Given the description of an element on the screen output the (x, y) to click on. 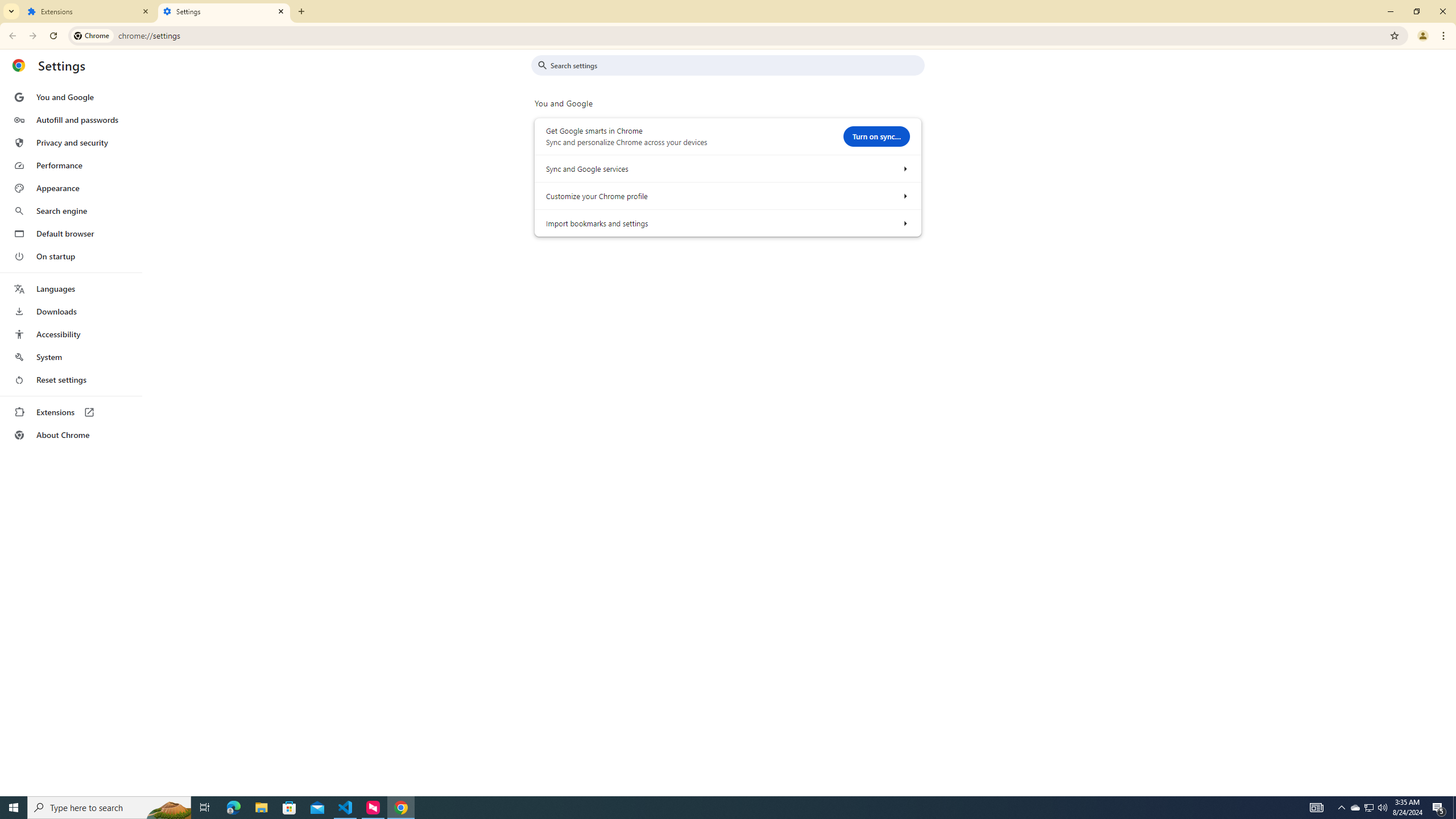
AutomationID: menu (71, 265)
Default browser (70, 233)
Downloads (70, 311)
Reset settings (70, 379)
Privacy and security (70, 142)
Autofill and passwords (70, 119)
